Given the description of an element on the screen output the (x, y) to click on. 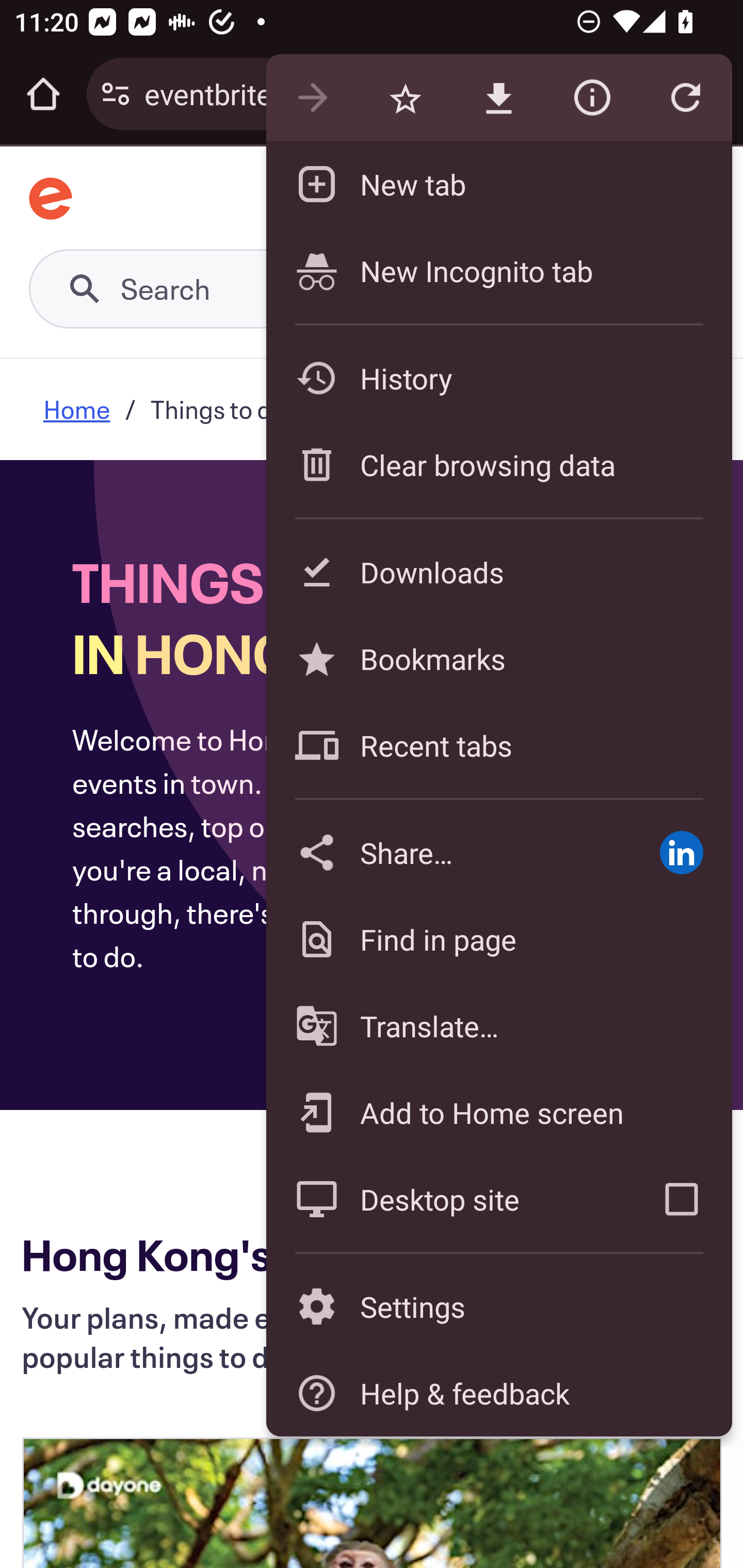
Forward (311, 97)
Bookmark (404, 97)
Download (498, 97)
Page info (591, 97)
Refresh (684, 97)
New tab (498, 184)
New Incognito tab (498, 270)
History (498, 377)
Clear browsing data (498, 464)
Downloads (498, 571)
Bookmarks (498, 658)
Recent tabs (498, 745)
Share… (447, 852)
Share via Share in a post (680, 852)
Find in page (498, 939)
Translate… (498, 1026)
Add to Home screen (498, 1112)
Desktop site Turn on Request desktop site (447, 1198)
Settings (498, 1306)
Help & feedback (498, 1393)
